Given the description of an element on the screen output the (x, y) to click on. 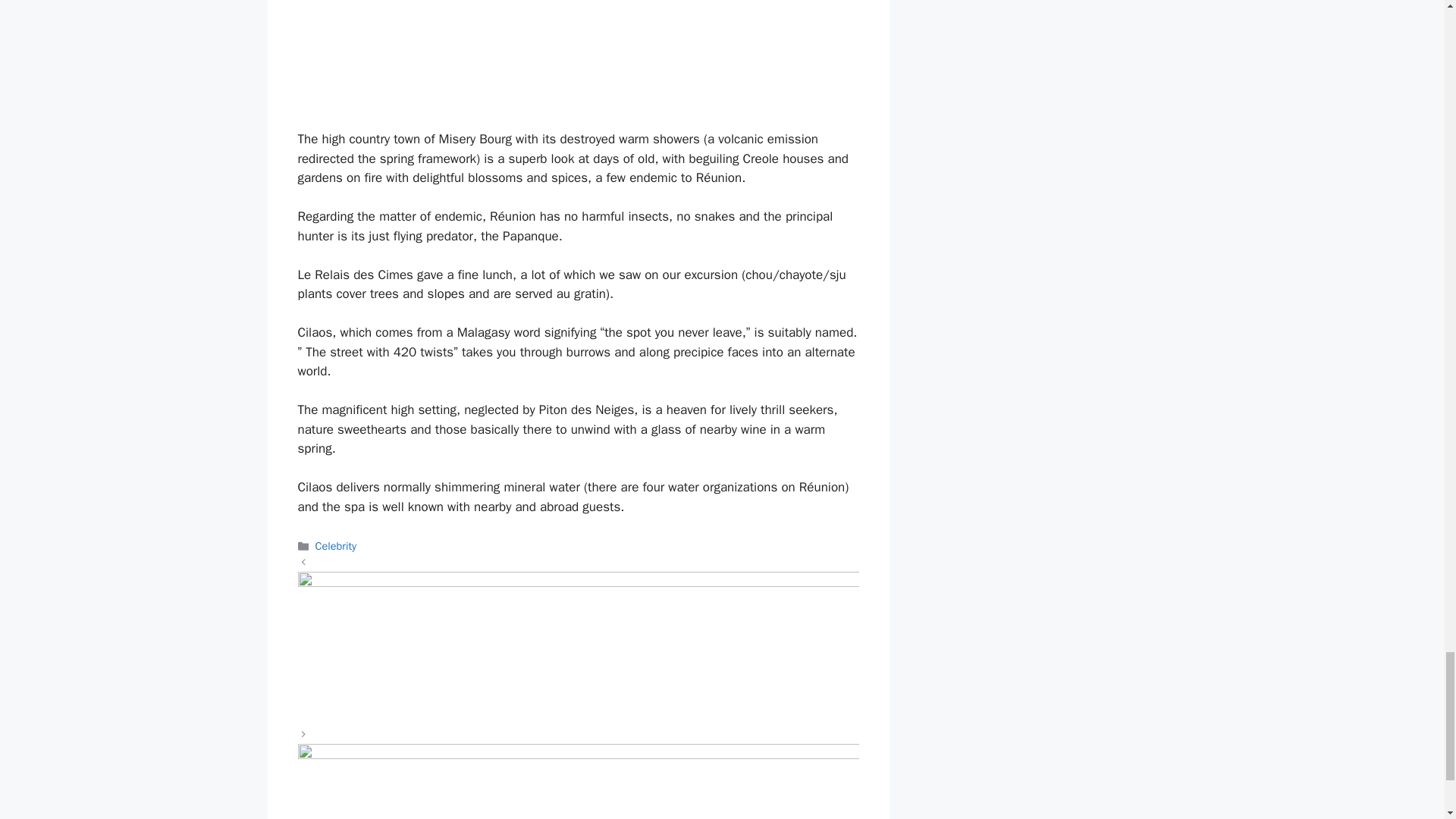
Celebrity (335, 545)
